Given the description of an element on the screen output the (x, y) to click on. 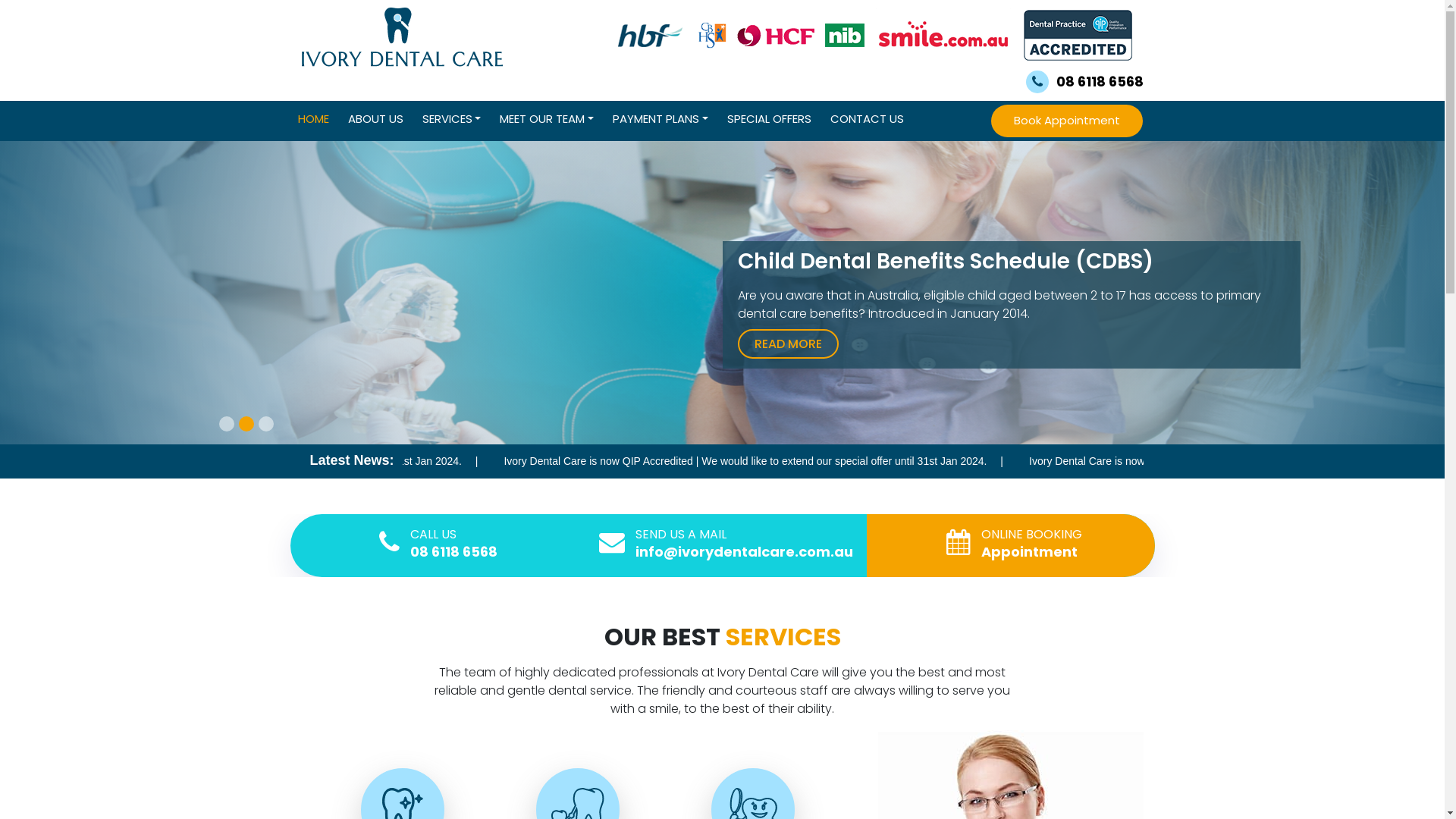
SERVICES Element type: text (450, 119)
CONTACT US Element type: text (866, 119)
SPECIAL OFFERS Element type: text (769, 119)
Book Appointment Element type: text (1066, 120)
MEET OUR TEAM Element type: text (546, 119)
ONLINE BOOKING
Appointment Element type: text (1031, 541)
08 6118 6568 Element type: text (1083, 81)
READ MORE Element type: text (789, 343)
PAYMENT PLANS Element type: text (660, 119)
ABOUT US Element type: text (374, 119)
info@ivorydentalcare.com.au Element type: text (744, 550)
HOME Element type: text (312, 119)
HOME - ivory Element type: hover (401, 36)
